Given the description of an element on the screen output the (x, y) to click on. 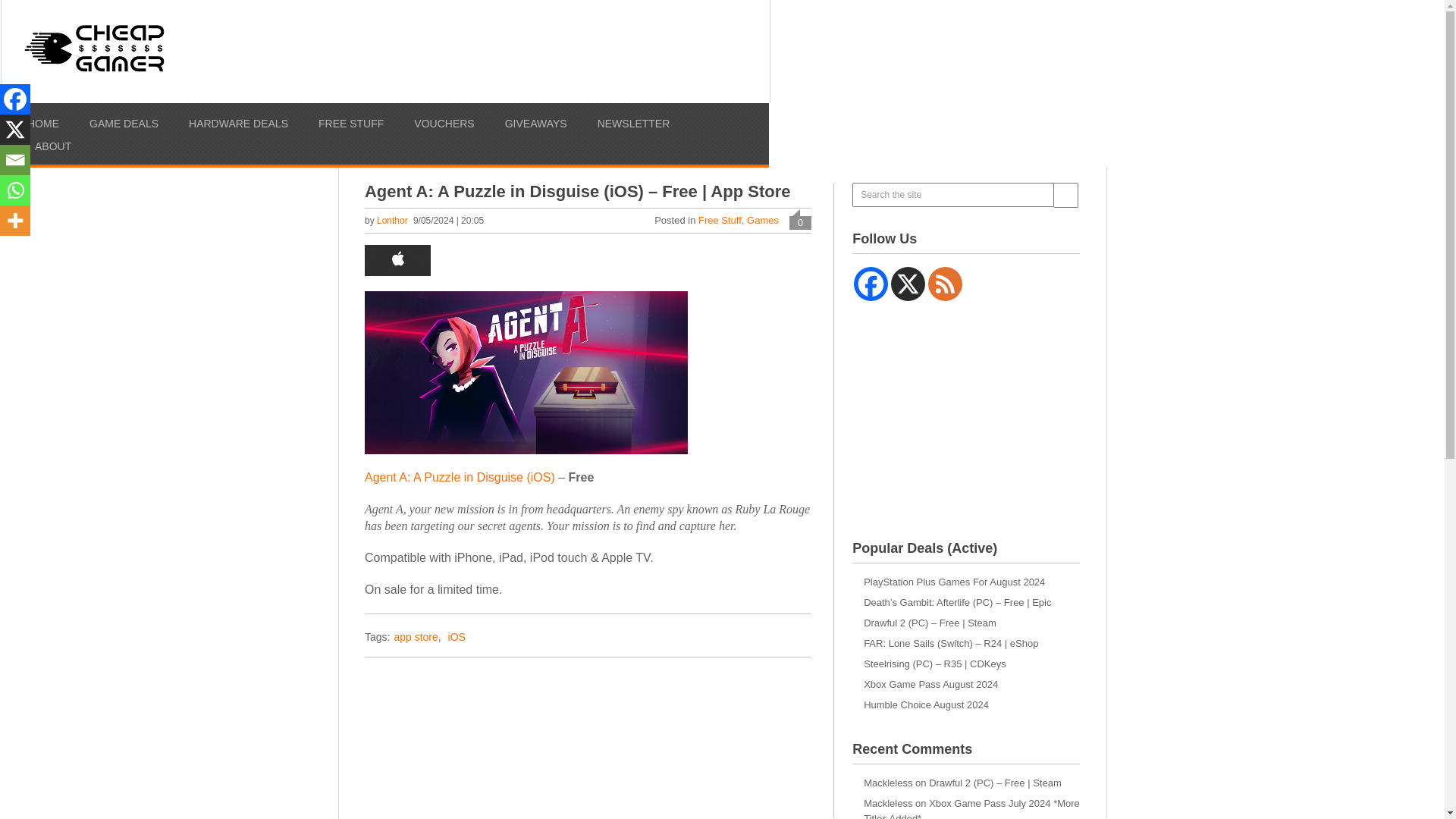
Search (1066, 195)
FREE STUFF (351, 123)
Free Stuff (719, 220)
More (15, 220)
Facebook (870, 283)
Lonthor (392, 220)
RSS feed (945, 283)
HOME (43, 123)
HARDWARE DEALS (238, 123)
GAME DEALS (123, 123)
